Given the description of an element on the screen output the (x, y) to click on. 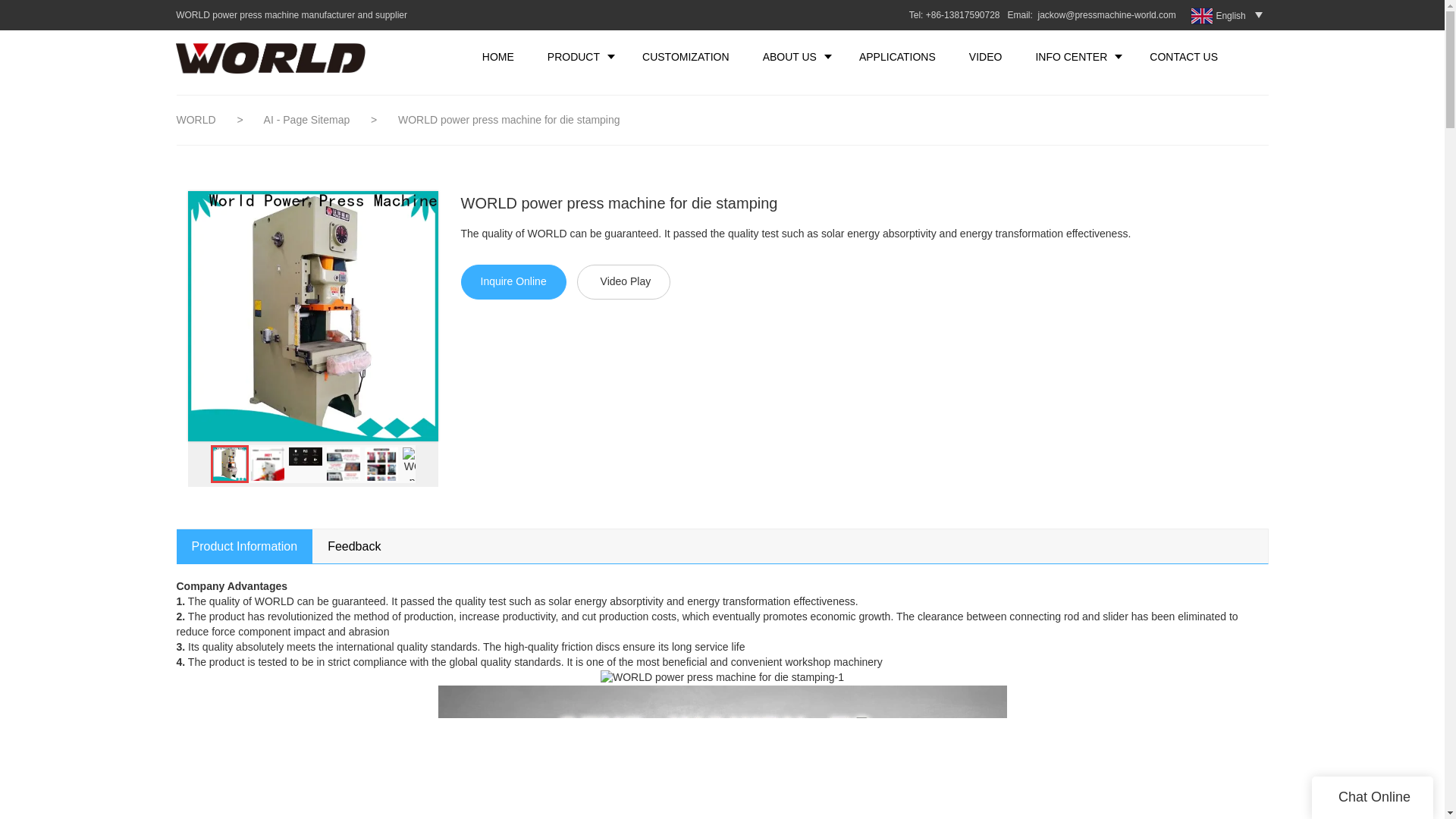
Product Information (244, 546)
CONTACT US (1183, 56)
Inquire Online (513, 281)
PRODUCT (578, 56)
WORLD (195, 119)
ABOUT US (794, 56)
CUSTOMIZATION (685, 56)
HOME (498, 56)
INFO CENTER (1074, 56)
APPLICATIONS (897, 56)
Video Play (623, 281)
VIDEO (985, 56)
AI - Page Sitemap (308, 119)
